Given the description of an element on the screen output the (x, y) to click on. 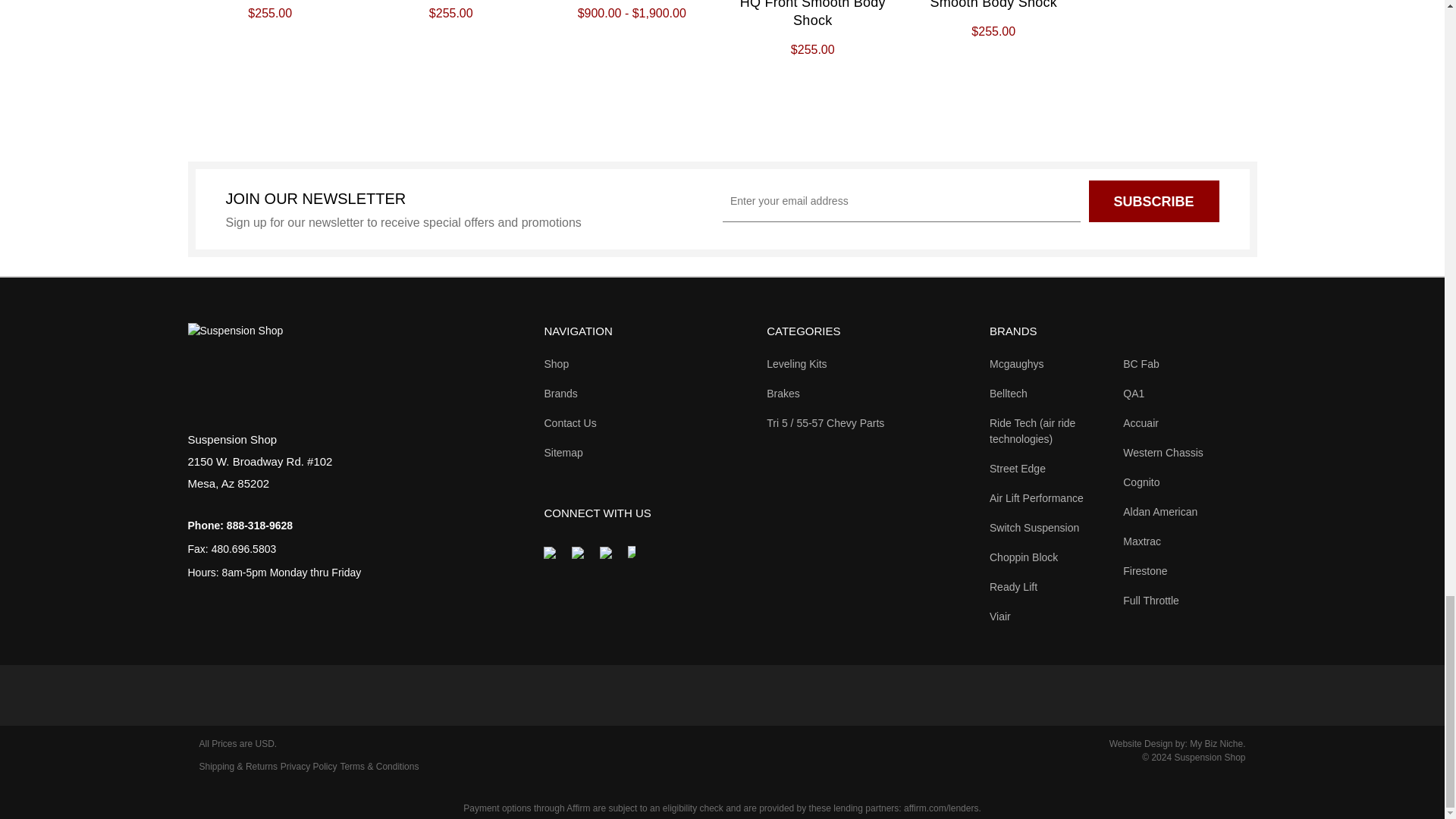
Subscribe (1154, 200)
